Given the description of an element on the screen output the (x, y) to click on. 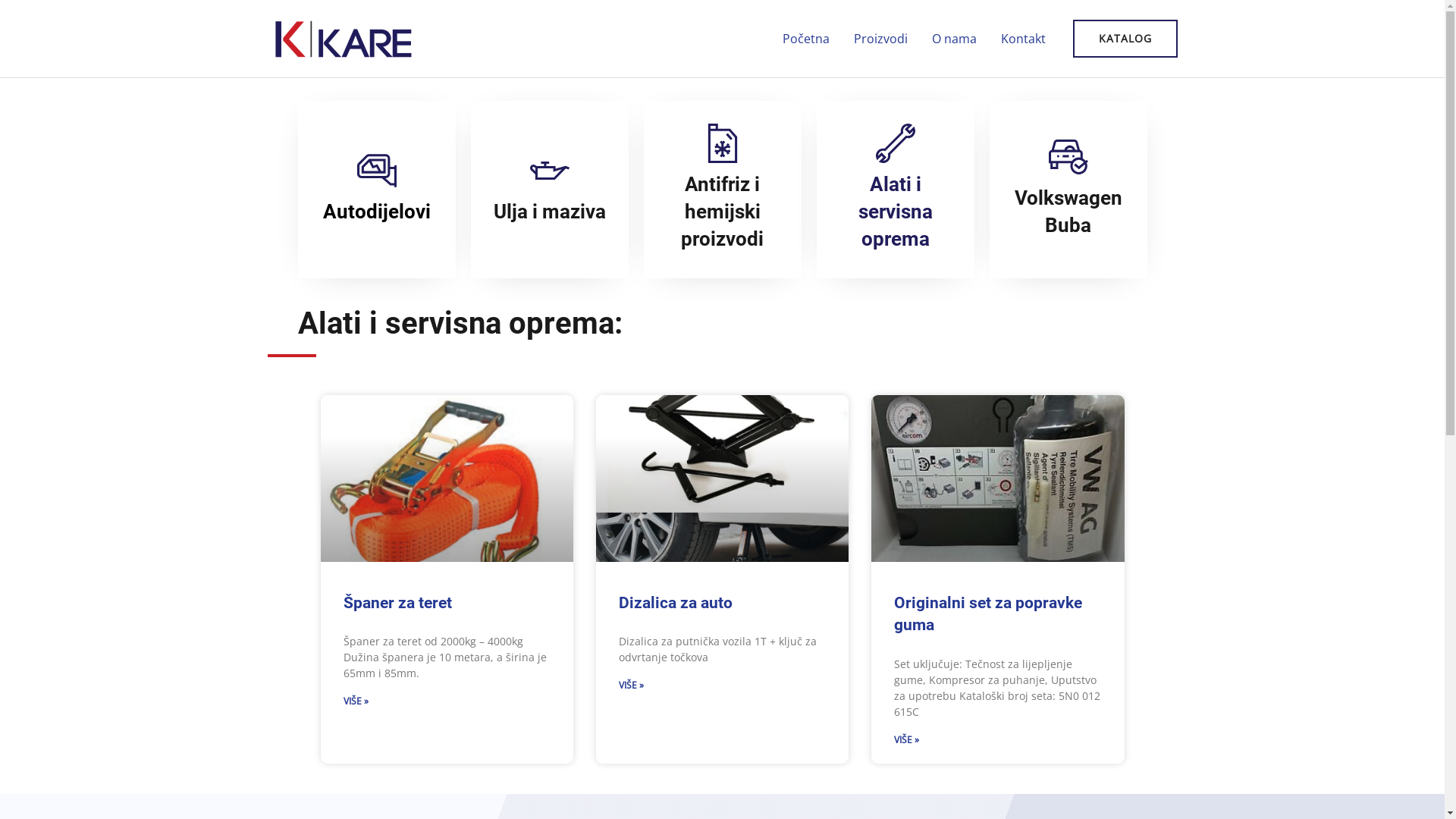
Originalni set za popravke guma Element type: text (988, 613)
KATALOG Element type: text (1124, 38)
Dizalica za auto Element type: text (675, 602)
Kontakt Element type: text (1022, 38)
O nama Element type: text (953, 38)
Proizvodi Element type: text (880, 38)
